Given the description of an element on the screen output the (x, y) to click on. 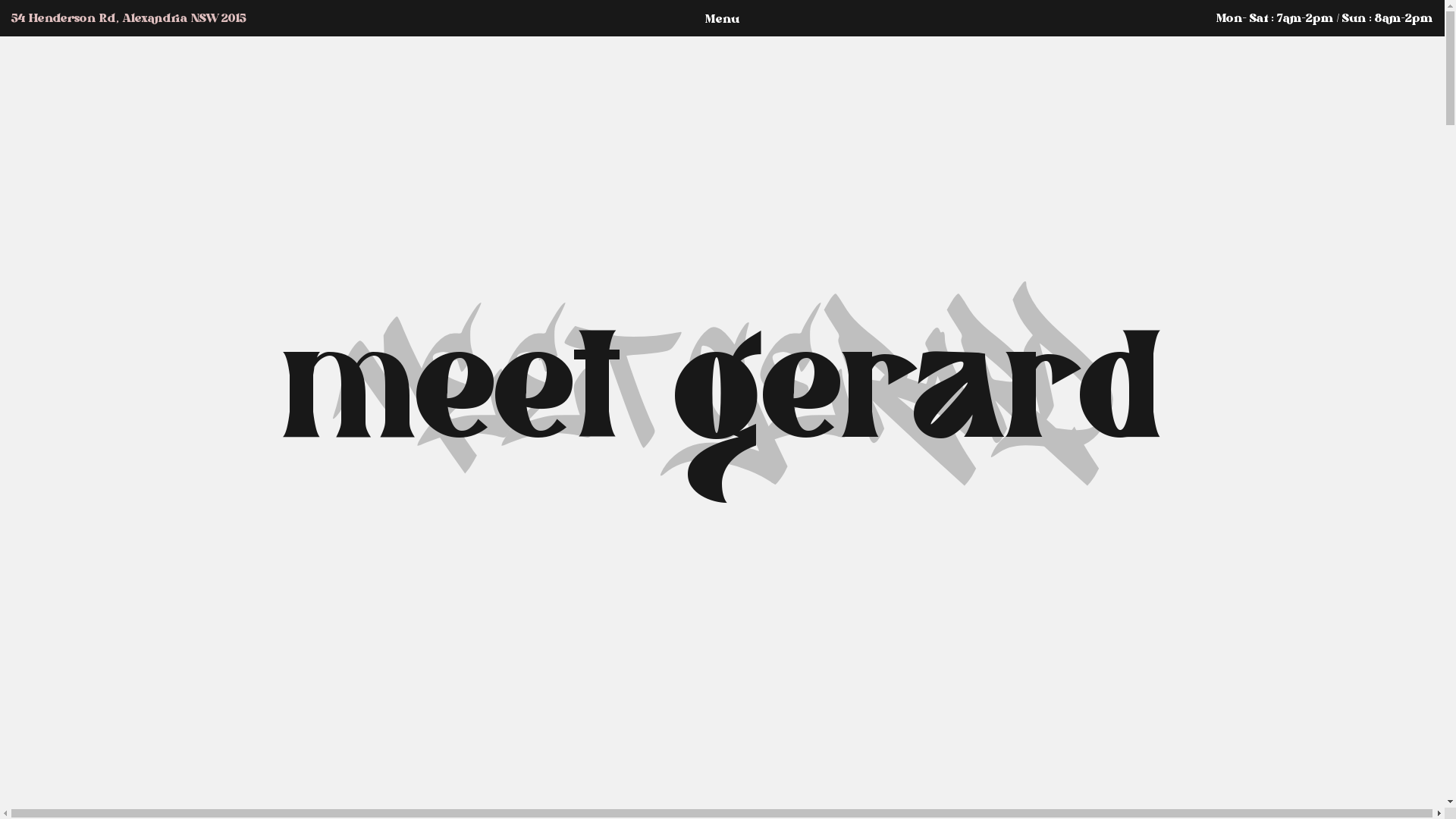
Menu Element type: text (722, 20)
